Given the description of an element on the screen output the (x, y) to click on. 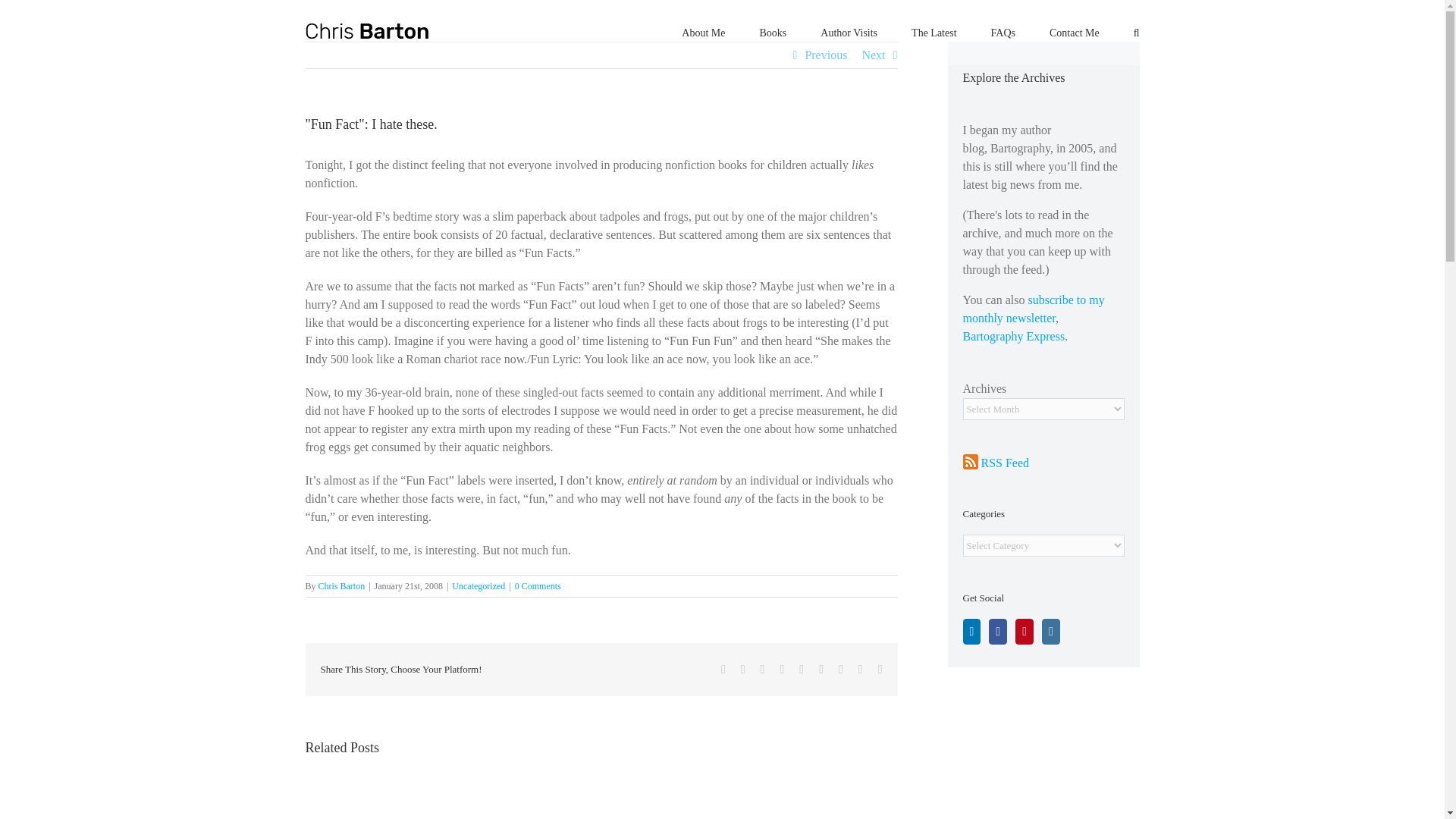
Next (873, 54)
Author Visits (849, 31)
Posts by Chris Barton (341, 585)
Previous (826, 54)
